Given the description of an element on the screen output the (x, y) to click on. 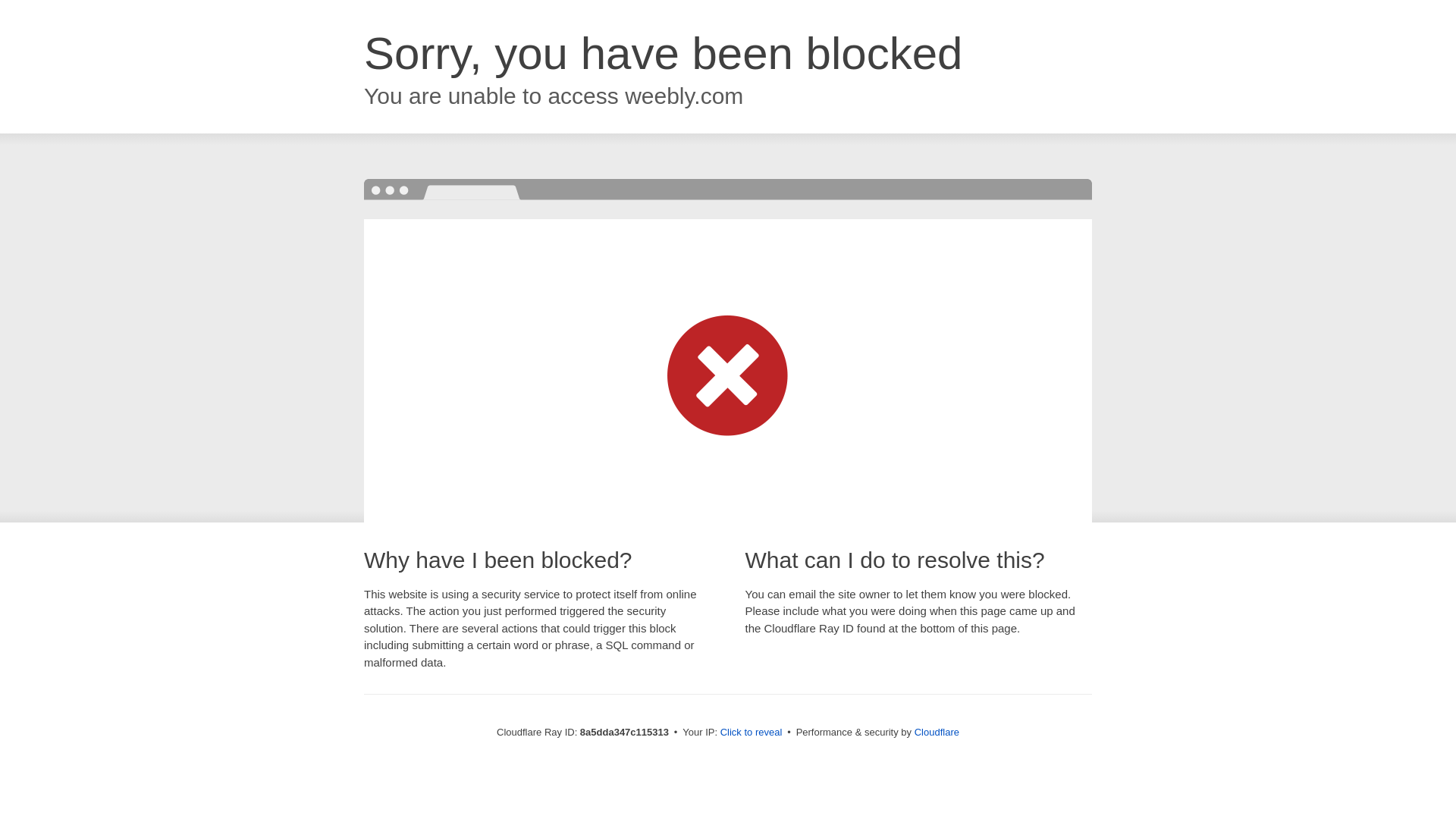
Cloudflare (936, 731)
Click to reveal (751, 732)
